Given the description of an element on the screen output the (x, y) to click on. 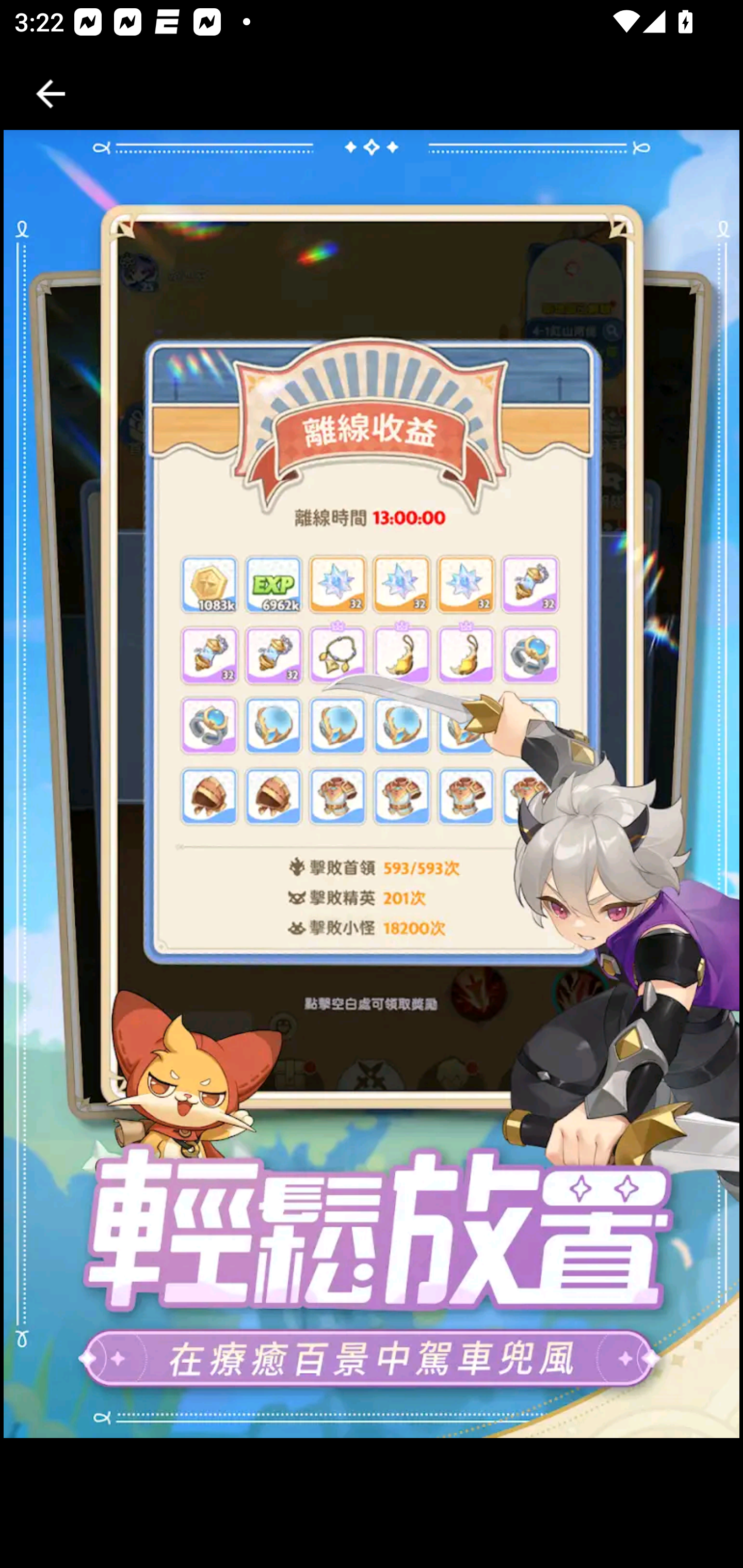
Back (50, 93)
